Given the description of an element on the screen output the (x, y) to click on. 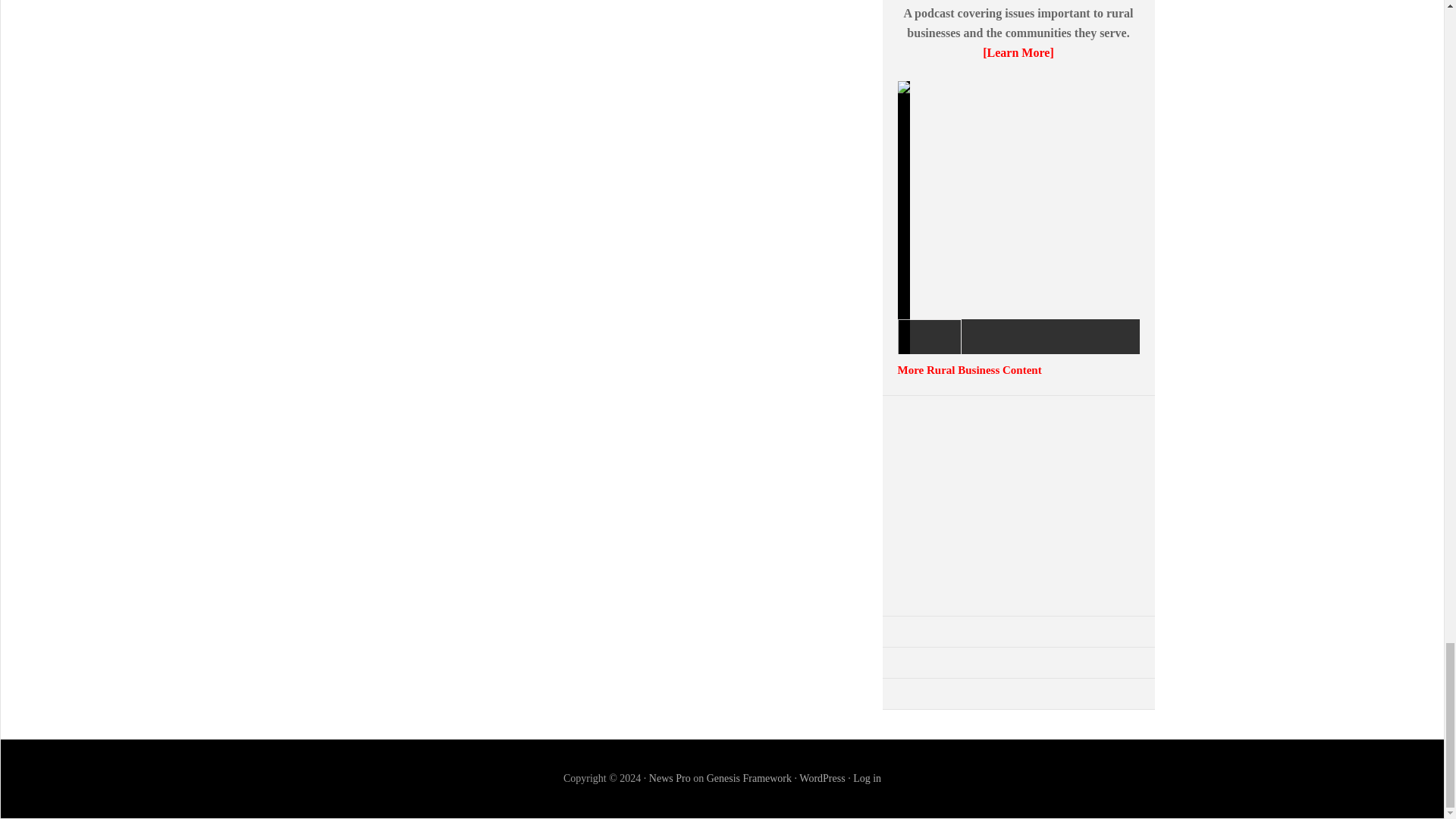
3rd party ad content (1018, 505)
